Given the description of an element on the screen output the (x, y) to click on. 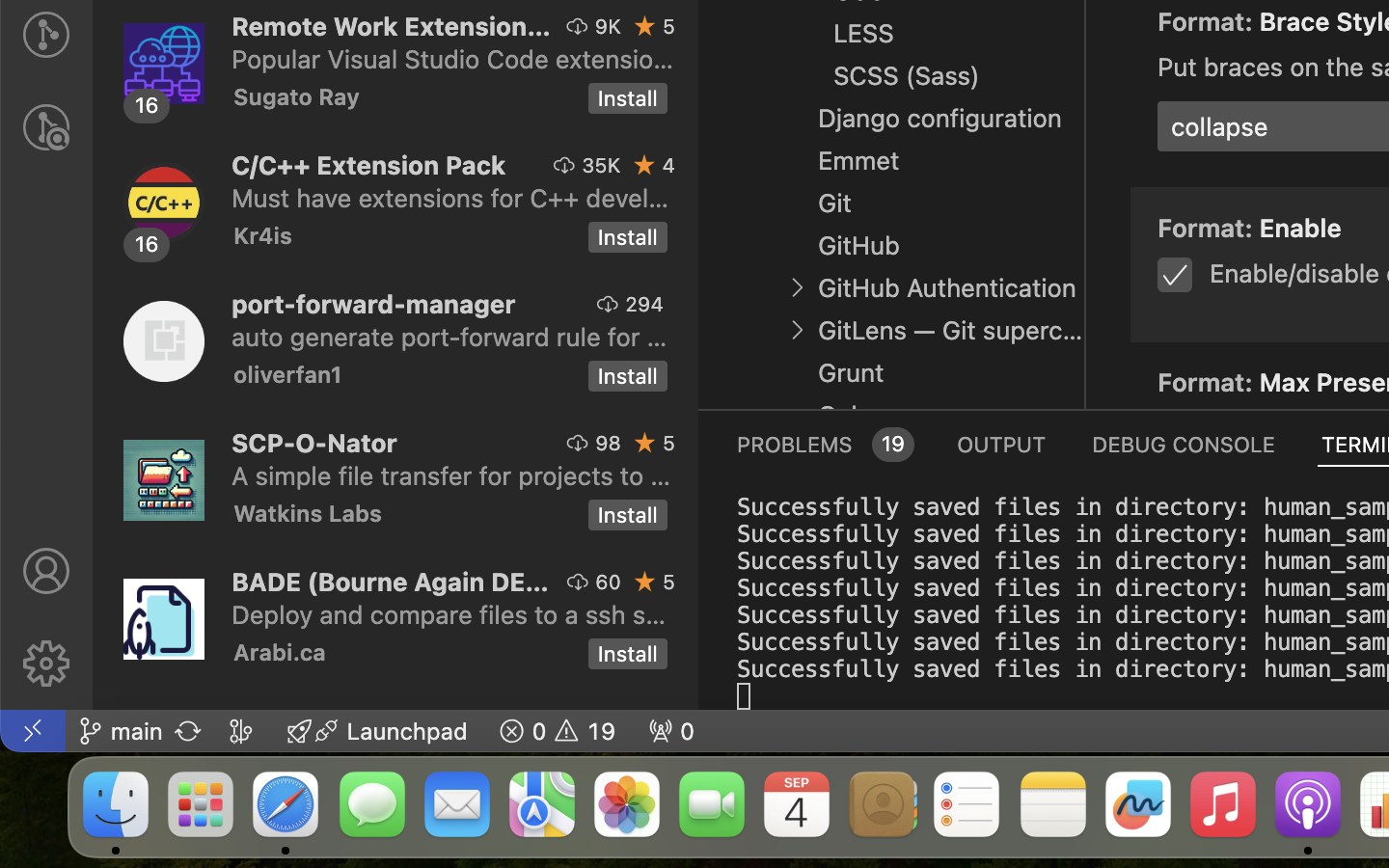
oliverfan1 Element type: AXStaticText (288, 373)
 0 Element type: AXButton (671, 730)
Enable Element type: AXStaticText (1300, 228)
Arabi.ca Element type: AXStaticText (279, 651)
port-forward-manager Element type: AXStaticText (374, 303)
